Given the description of an element on the screen output the (x, y) to click on. 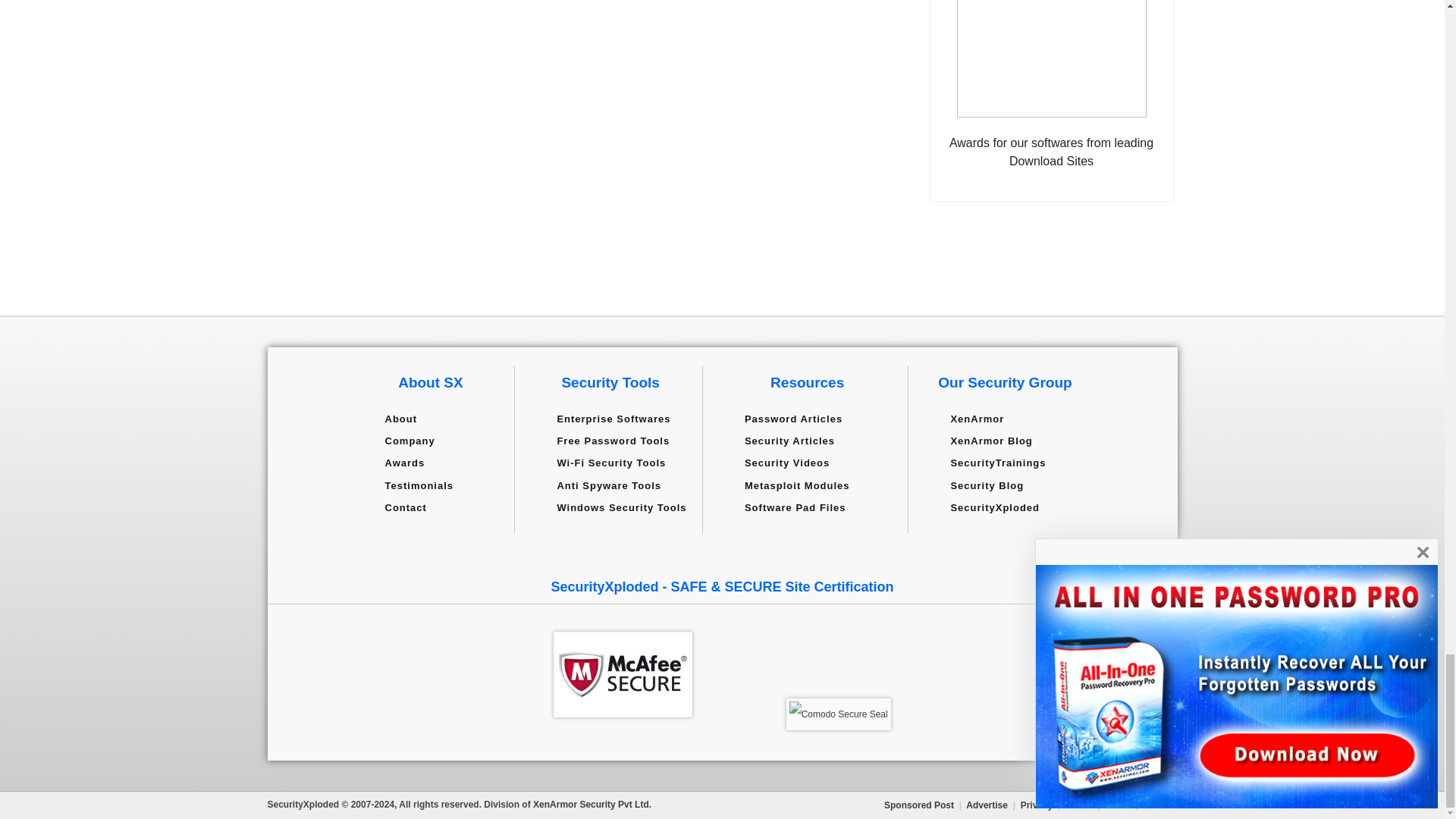
McAfee Site Advisor - SAFE Rating (623, 674)
Comodo Secure Seal (838, 714)
